Given the description of an element on the screen output the (x, y) to click on. 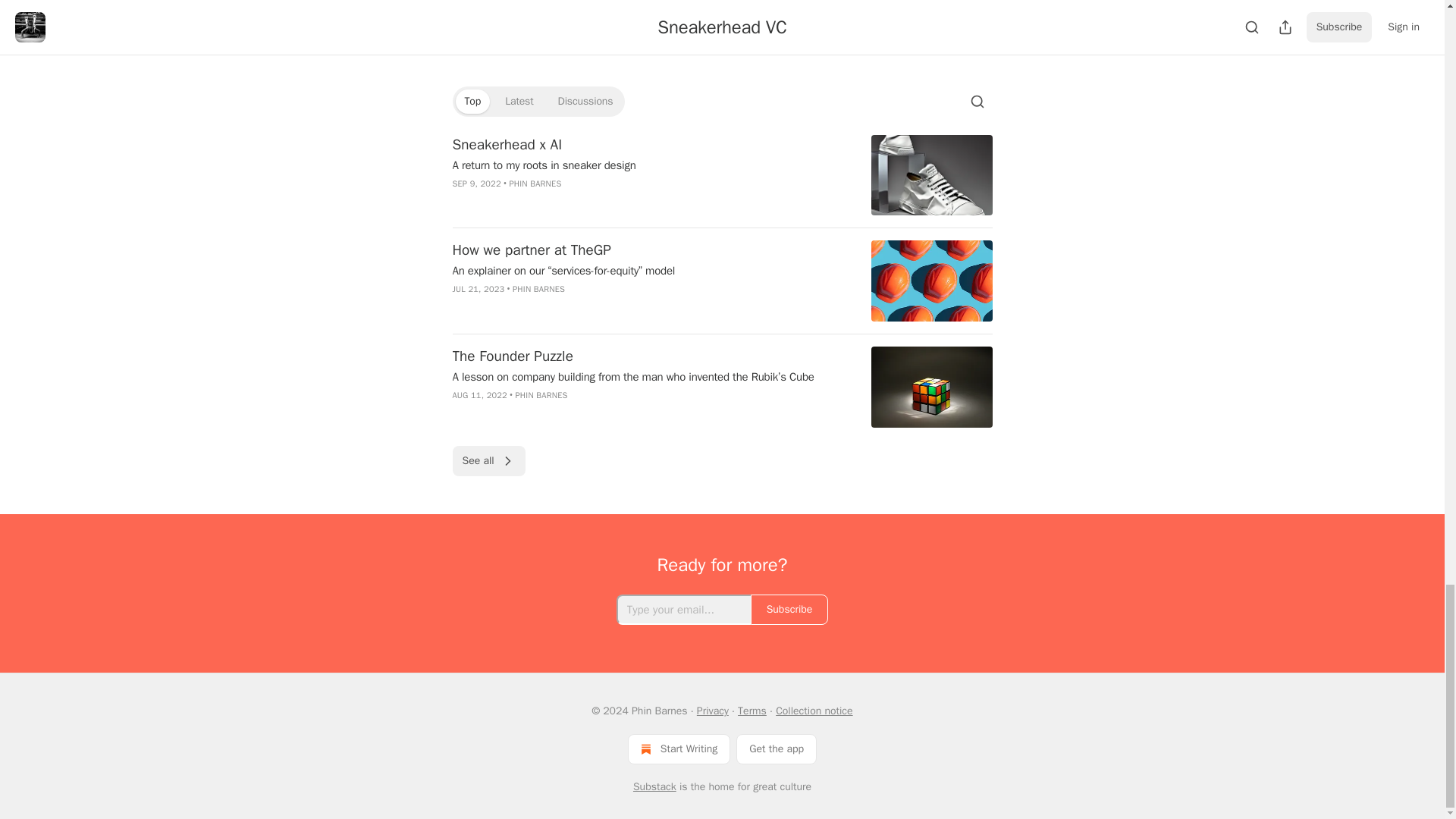
Discussions (585, 101)
Top (471, 101)
Latest (518, 101)
